Given the description of an element on the screen output the (x, y) to click on. 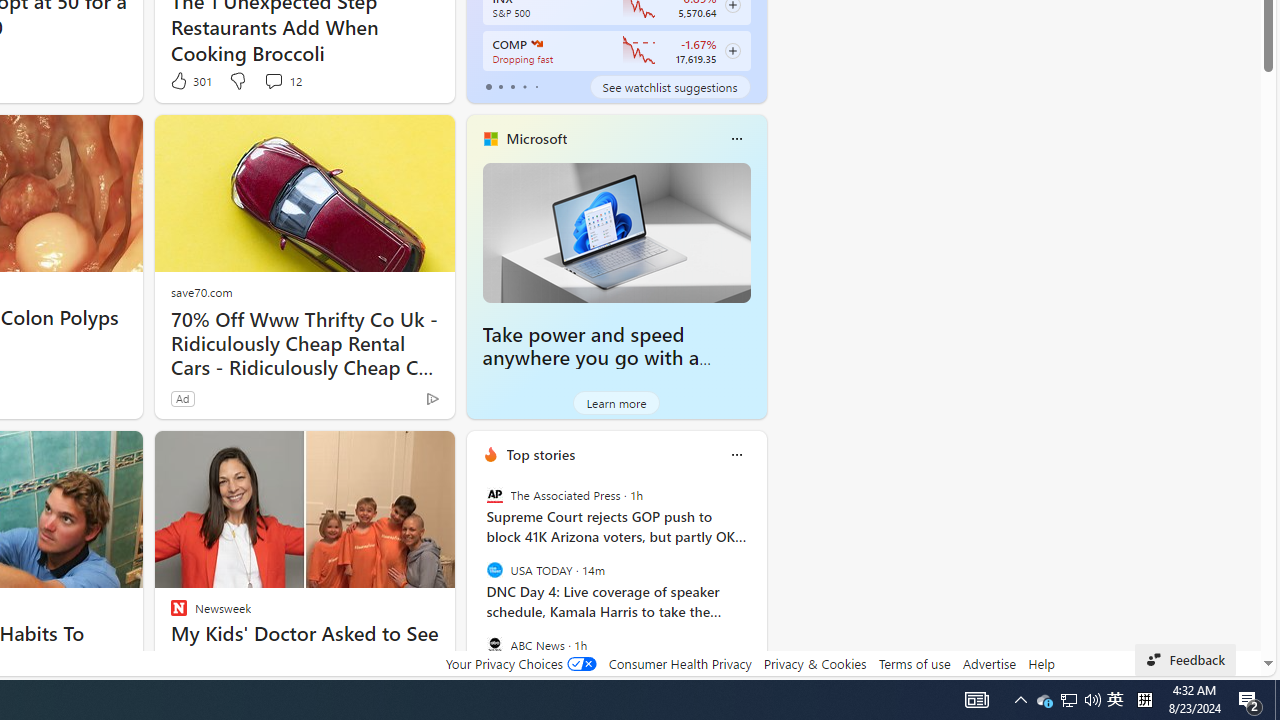
Privacy & Cookies (814, 663)
USA TODAY (494, 570)
NASDAQ (535, 43)
Your Privacy Choices (520, 663)
Terms of use (914, 663)
tab-1 (500, 86)
Microsoft (536, 139)
